Given the description of an element on the screen output the (x, y) to click on. 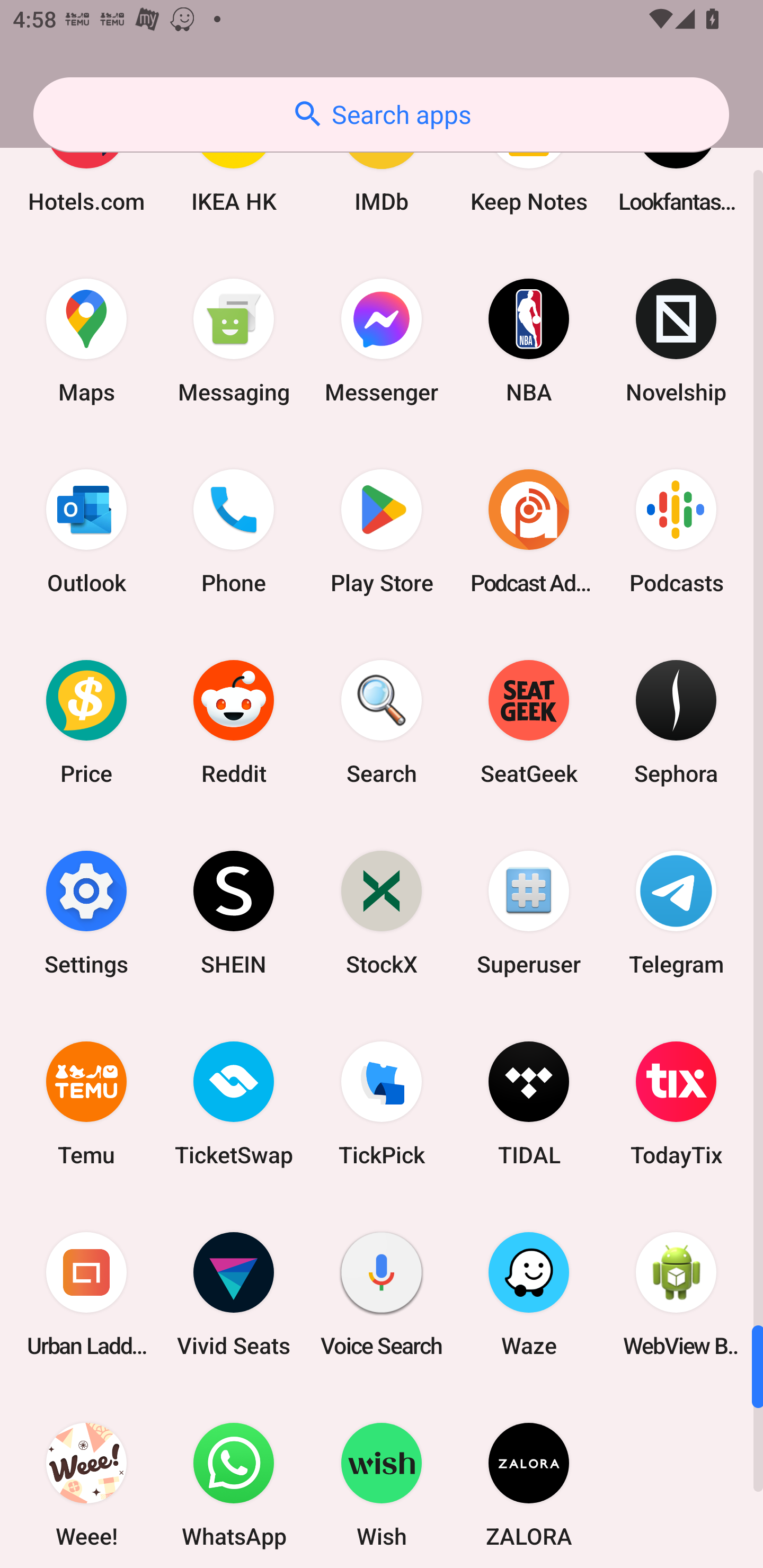
  Search apps (381, 114)
Maps (86, 339)
Messaging (233, 339)
Messenger (381, 339)
NBA (528, 339)
Novelship (676, 339)
Outlook (86, 531)
Phone (233, 531)
Play Store (381, 531)
Podcast Addict (528, 531)
Podcasts (676, 531)
Price (86, 721)
Reddit (233, 721)
Search (381, 721)
SeatGeek (528, 721)
Sephora (676, 721)
Settings (86, 912)
SHEIN (233, 912)
StockX (381, 912)
Superuser (528, 912)
Telegram (676, 912)
Temu (86, 1103)
TicketSwap (233, 1103)
TickPick (381, 1103)
TIDAL (528, 1103)
TodayTix (676, 1103)
Urban Ladder (86, 1294)
Vivid Seats (233, 1294)
Voice Search (381, 1294)
Waze (528, 1294)
WebView Browser Tester (676, 1294)
Weee! (86, 1478)
WhatsApp (233, 1478)
Wish (381, 1478)
ZALORA (528, 1478)
